Given the description of an element on the screen output the (x, y) to click on. 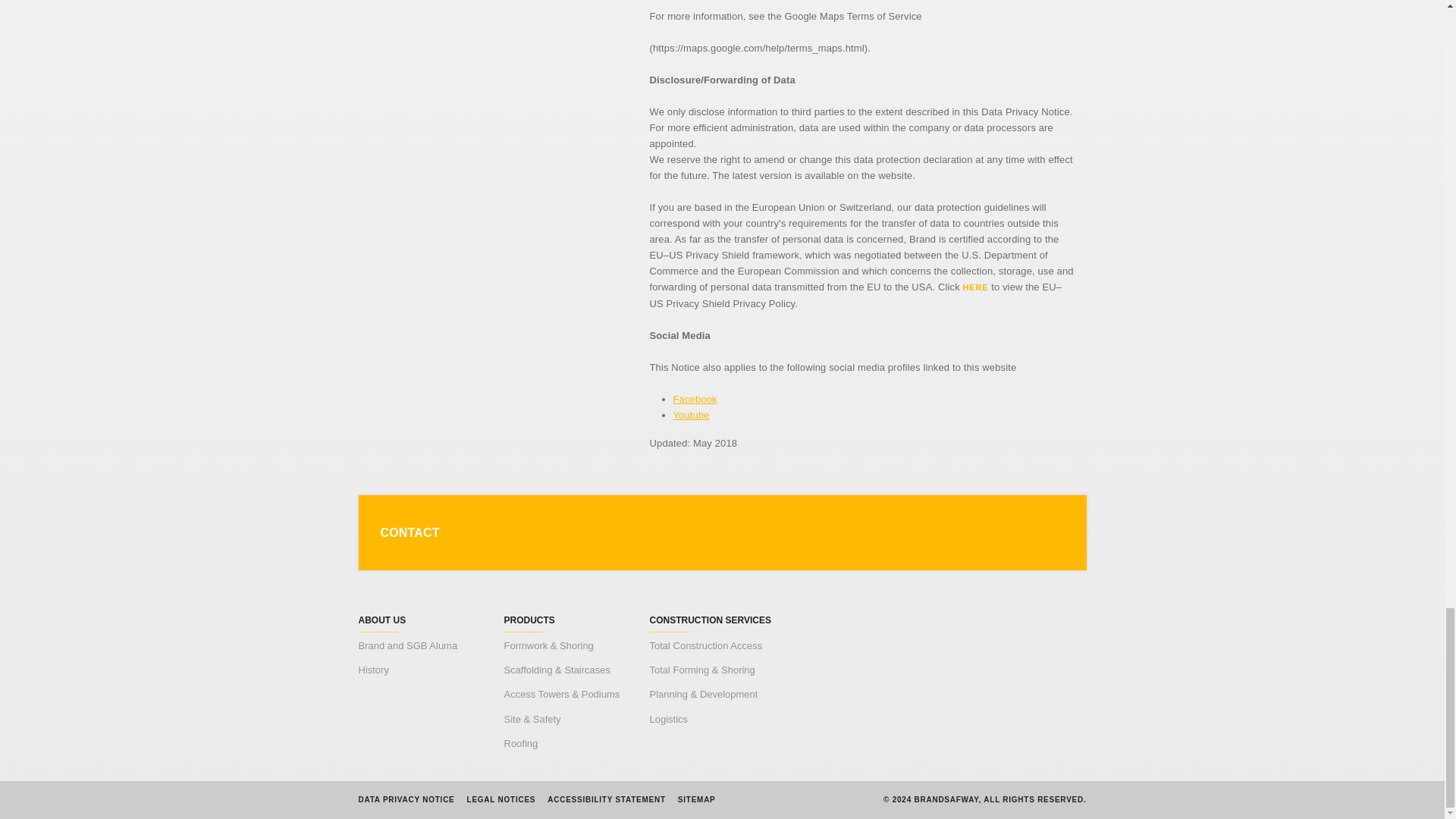
HERE (975, 286)
History (373, 669)
Facebook (694, 398)
Youtube (691, 414)
Brand and SGB Aluma (407, 645)
